Given the description of an element on the screen output the (x, y) to click on. 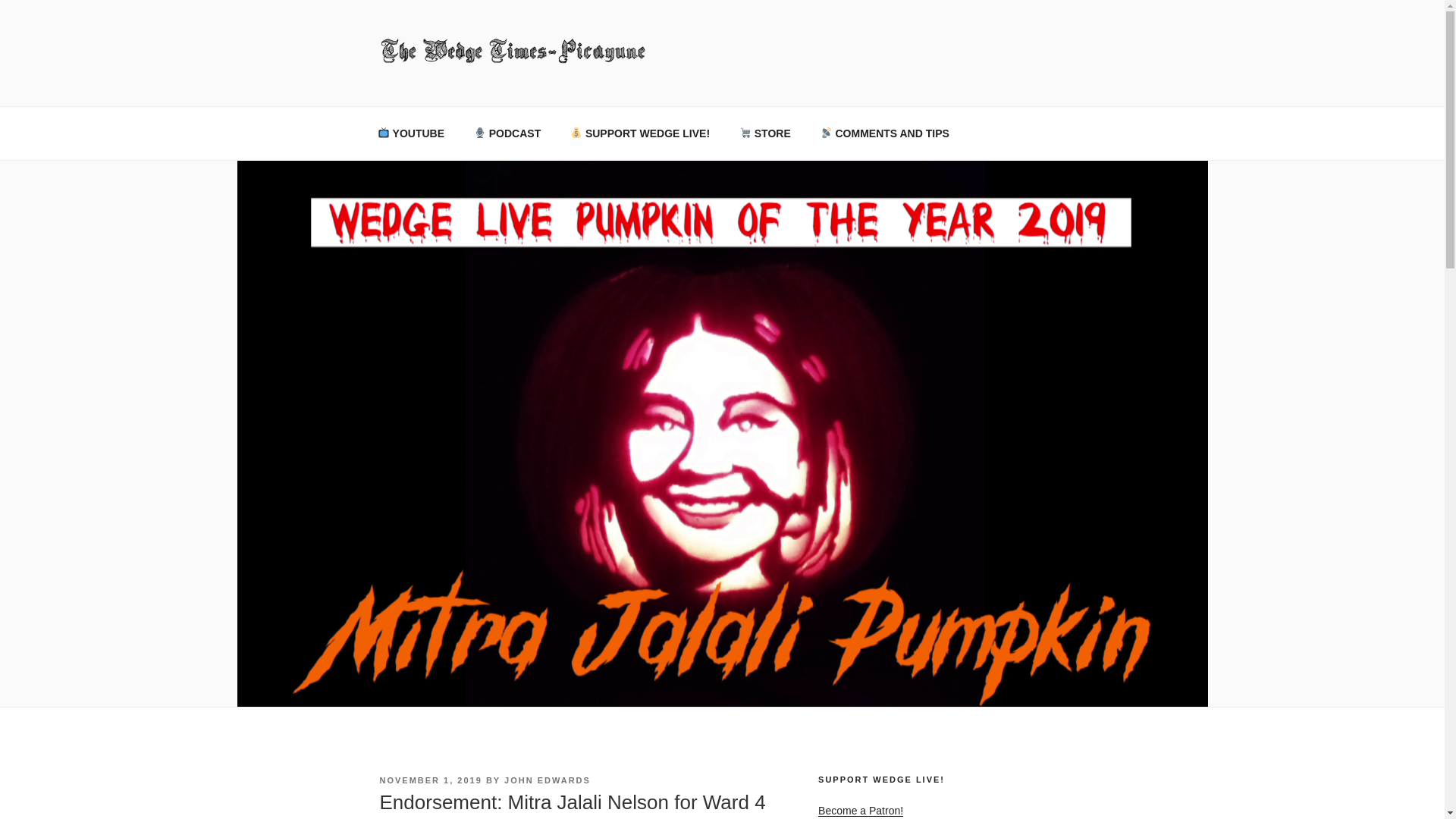
YOUTUBE (410, 133)
STORE (764, 133)
Become a Patron! (860, 810)
NOVEMBER 1, 2019 (429, 779)
COMMENTS AND TIPS (884, 133)
JOHN EDWARDS (547, 779)
THE WEDGE TIMES-PICAYUNE (606, 86)
PODCAST (506, 133)
SUPPORT WEDGE LIVE! (640, 133)
